Given the description of an element on the screen output the (x, y) to click on. 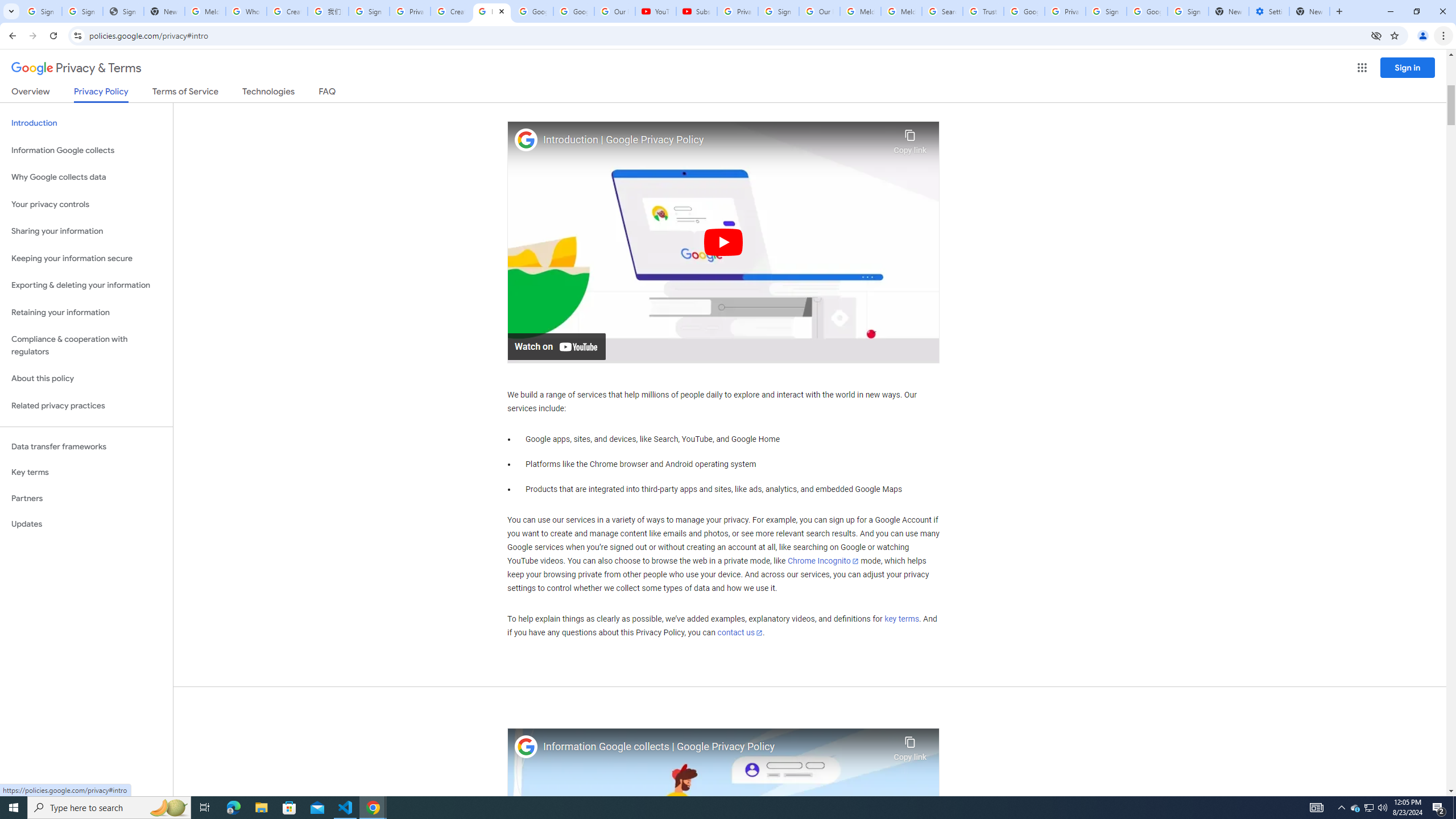
Information Google collects (86, 150)
Key terms (86, 472)
Introduction | Google Privacy Policy (715, 139)
